Given the description of an element on the screen output the (x, y) to click on. 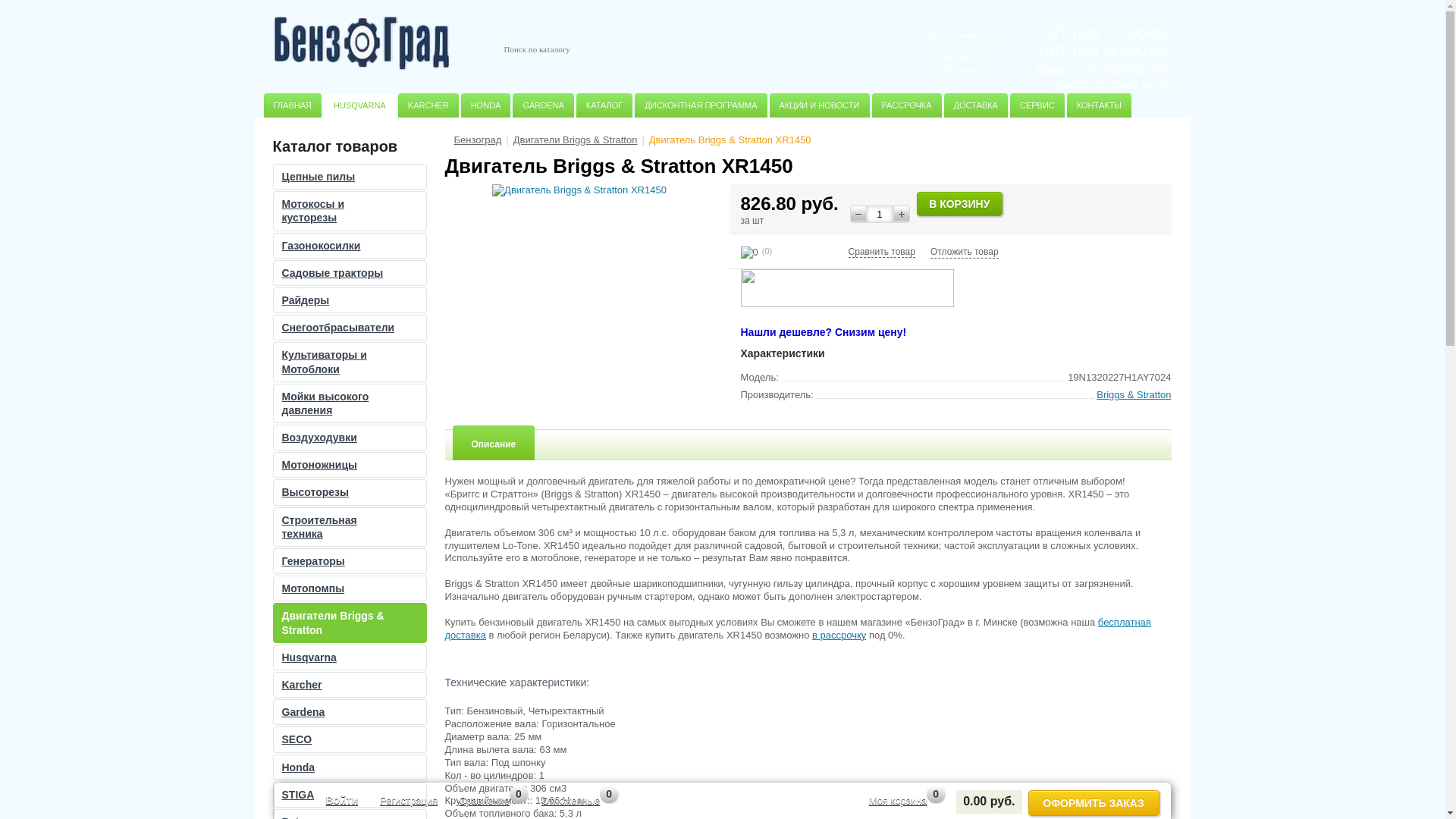
info@benzograd.by Element type: text (959, 69)
HONDA Element type: text (486, 105)
Briggs & Stratton Element type: text (1133, 394)
SECO Element type: text (349, 739)
Husqvarna Element type: text (349, 657)
HUSQVARNA Element type: text (359, 105)
STIGA Element type: text (349, 794)
Karcher Element type: text (349, 684)
KARCHER Element type: text (428, 105)
GARDENA Element type: text (542, 105)
Gardena Element type: text (349, 711)
Honda Element type: text (349, 767)
